Given the description of an element on the screen output the (x, y) to click on. 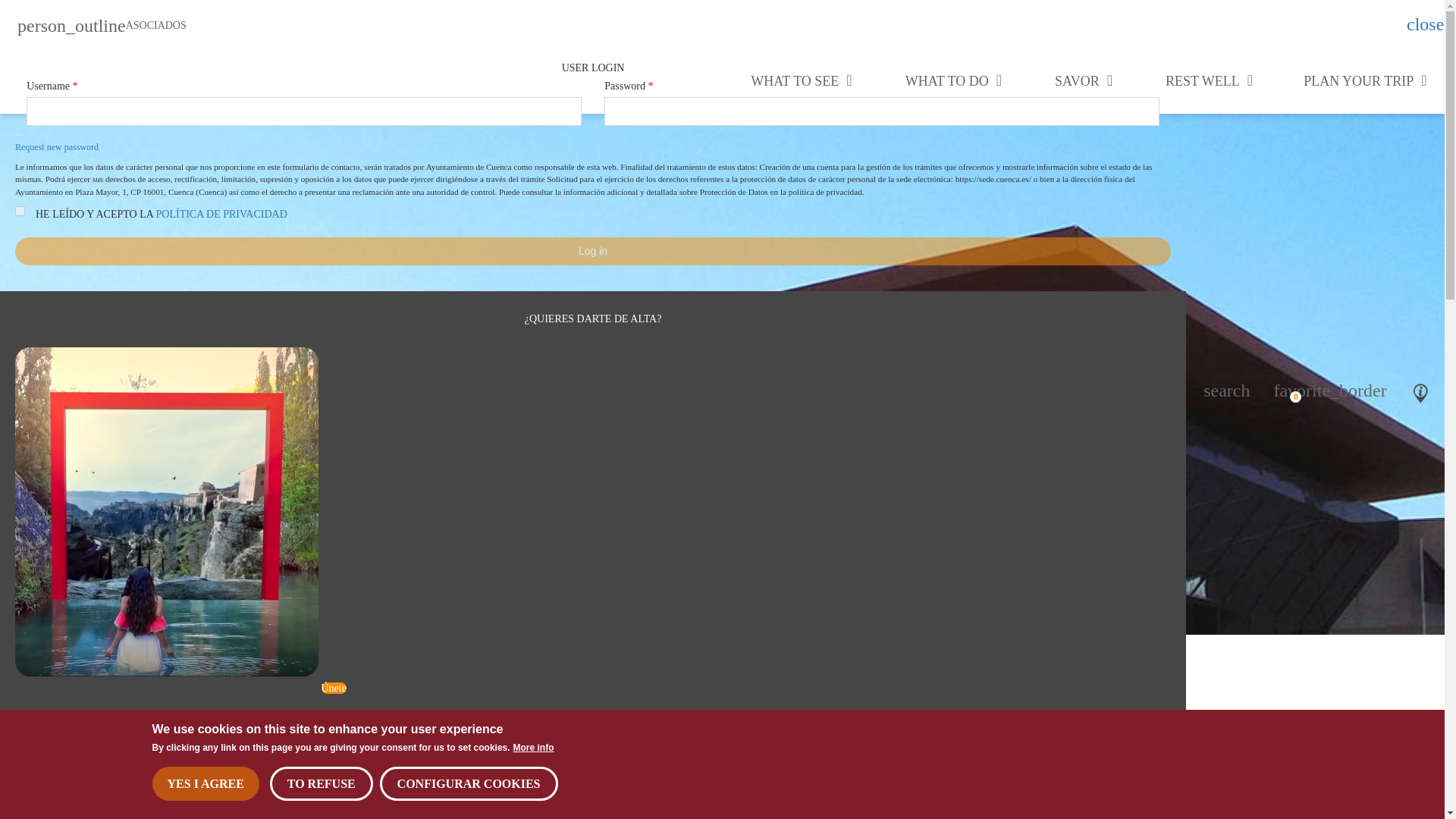
Request new password (56, 146)
PLAN YOUR TRIP (1364, 80)
search (1225, 389)
REST WELL (1209, 80)
1 (19, 211)
WHAT TO DO (953, 80)
Log in (592, 251)
Log in (592, 251)
close (1417, 26)
WHAT TO SEE (801, 80)
SAVOR (1083, 80)
